Given the description of an element on the screen output the (x, y) to click on. 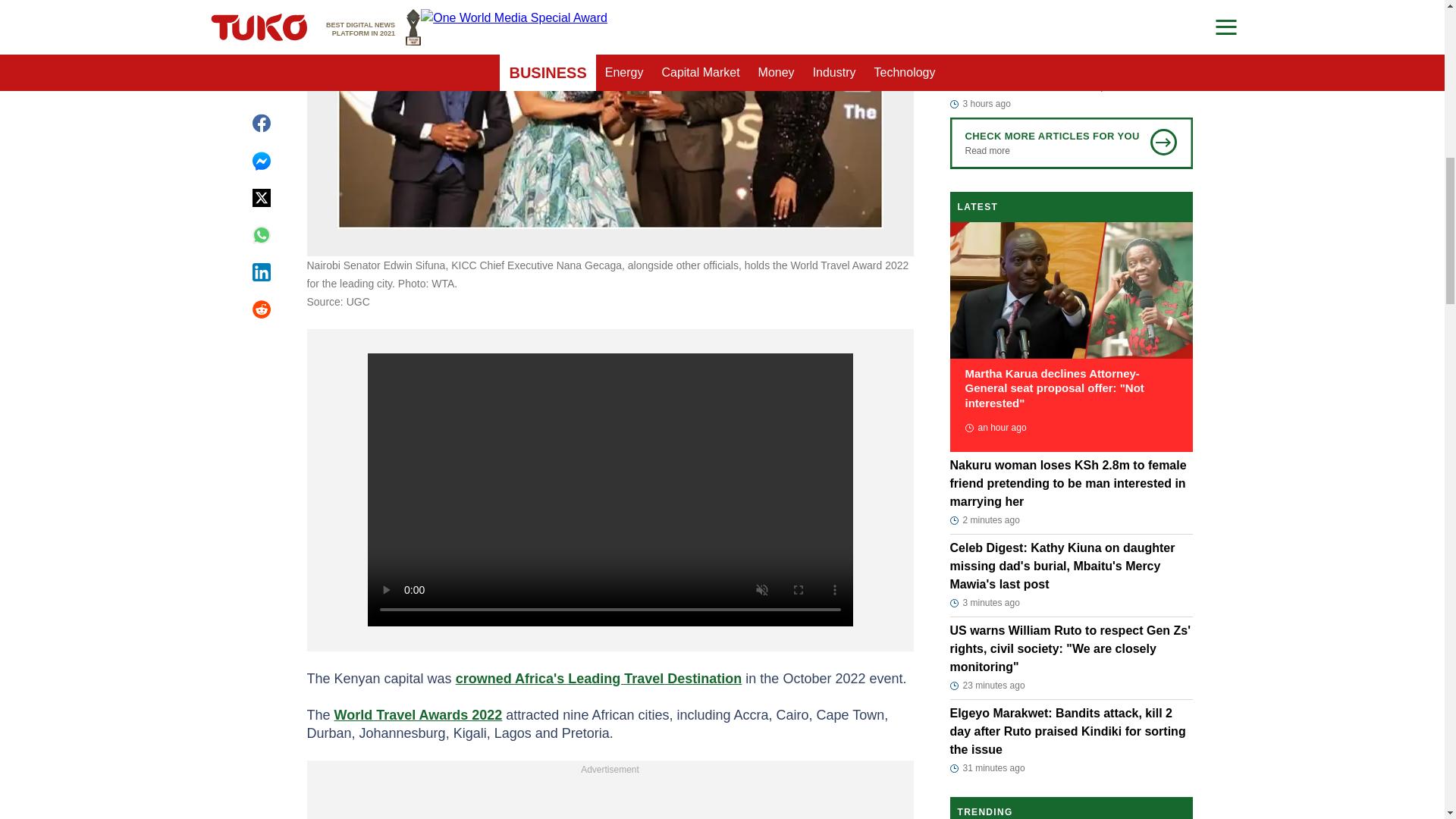
Nairobi has best infrastructural developments in Africa. (609, 114)
3rd party ad content (609, 798)
